Given the description of an element on the screen output the (x, y) to click on. 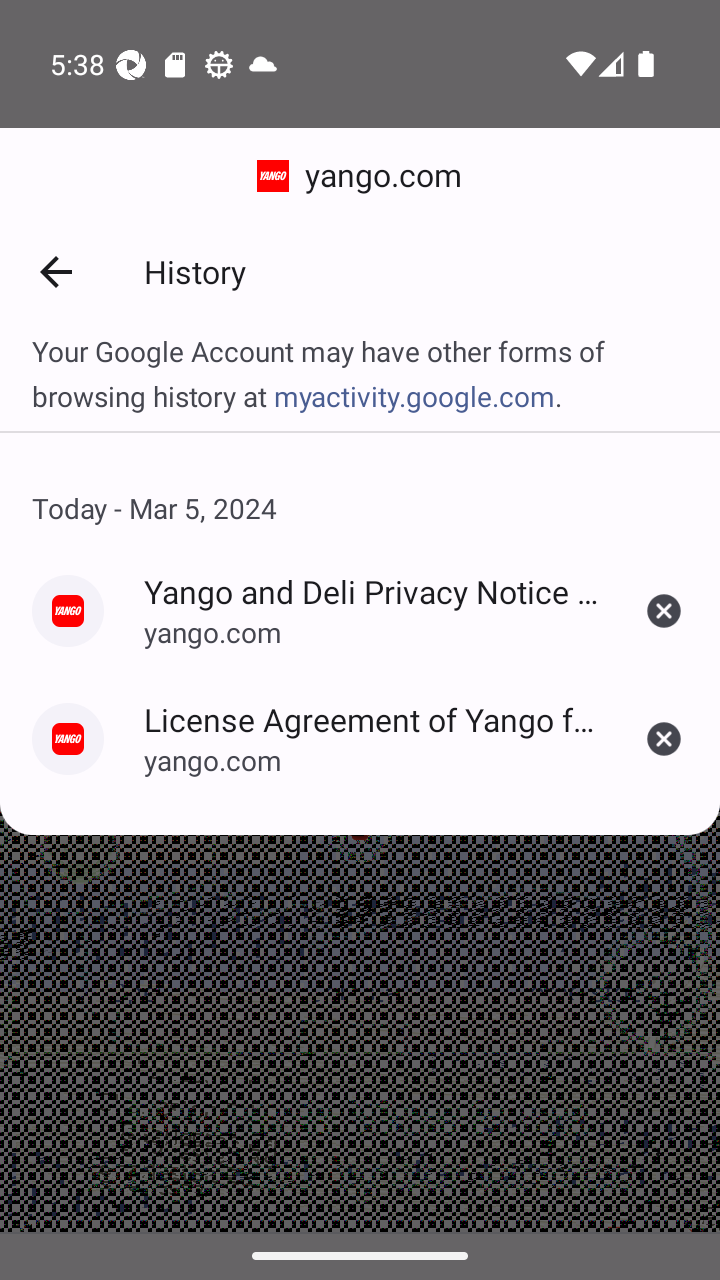
yango.com (360, 176)
Back (55, 272)
